Given the description of an element on the screen output the (x, y) to click on. 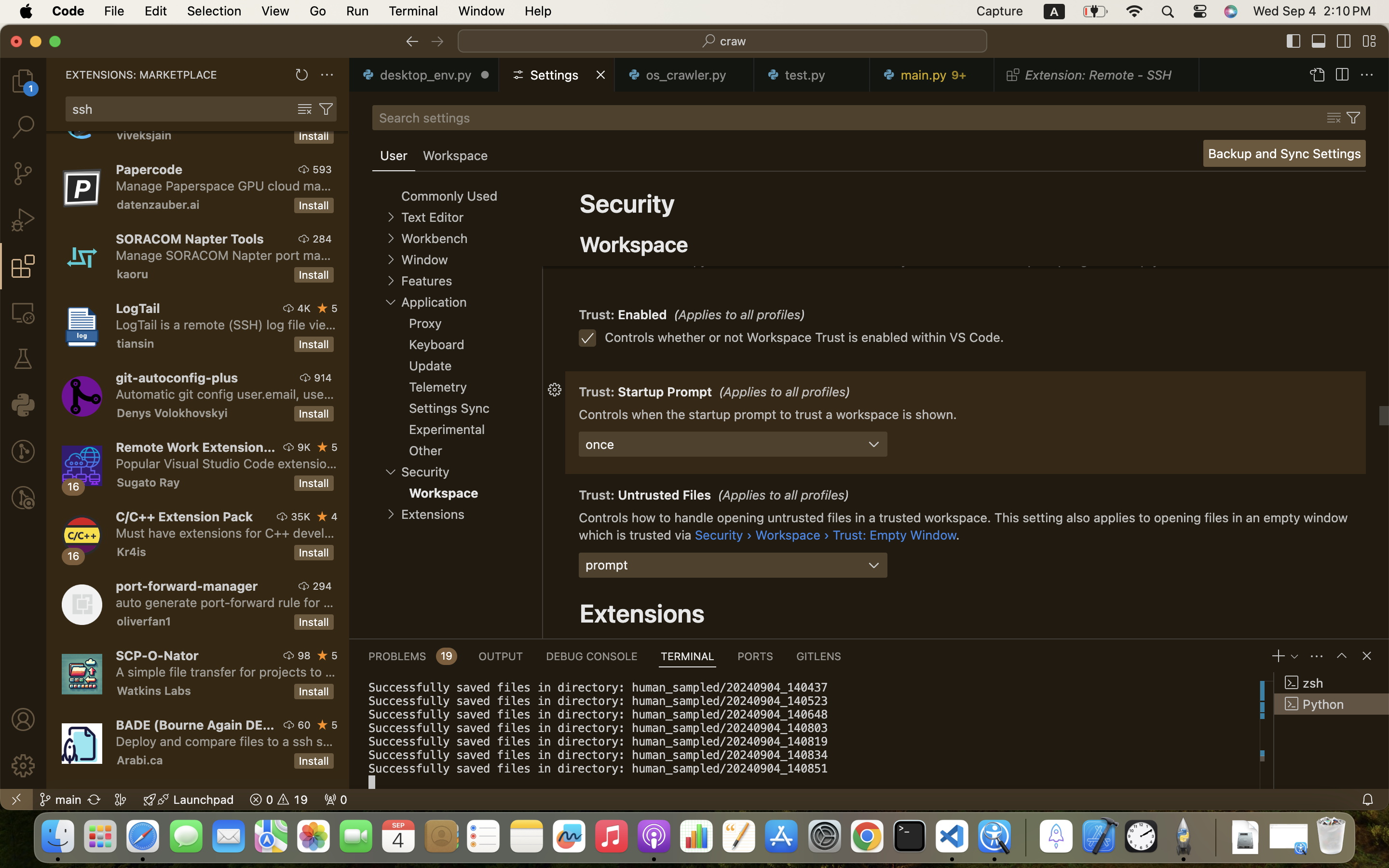
Deploy and compare files to a ssh server Element type: AXStaticText (224, 740)
0 OUTPUT Element type: AXRadioButton (500, 655)
LogTail Element type: AXStaticText (137, 307)
0 desktop_env.py   Element type: AXRadioButton (424, 74)
Manage SORACOM Napter port mappings from Visual Studio Code. Element type: AXStaticText (222, 254)
